Given the description of an element on the screen output the (x, y) to click on. 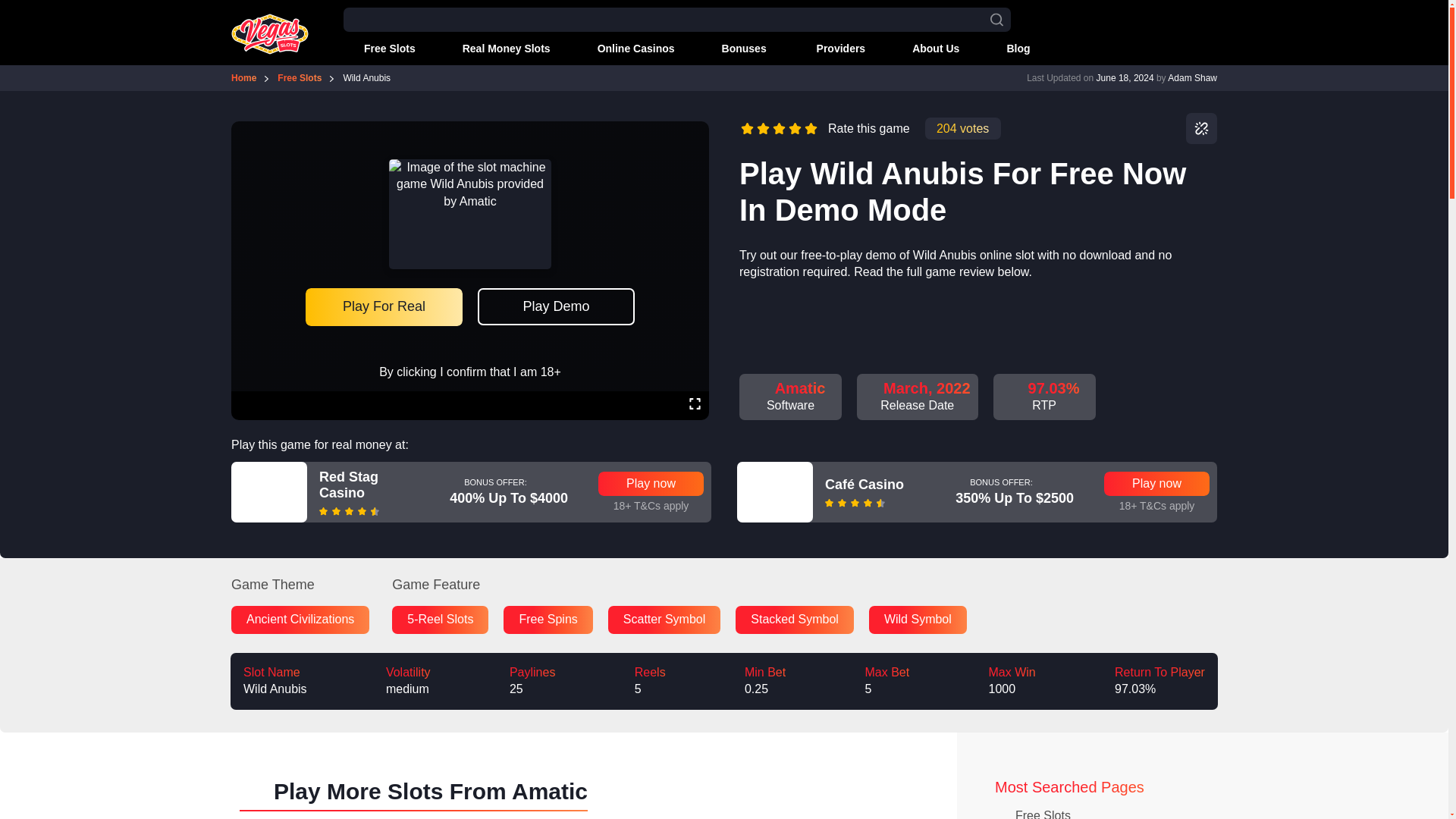
Real Money Slots (496, 48)
search (996, 19)
Bonuses  (735, 48)
Online Casinos (625, 48)
Free Slots (378, 48)
Providers (831, 48)
Search (6, 6)
